Given the description of an element on the screen output the (x, y) to click on. 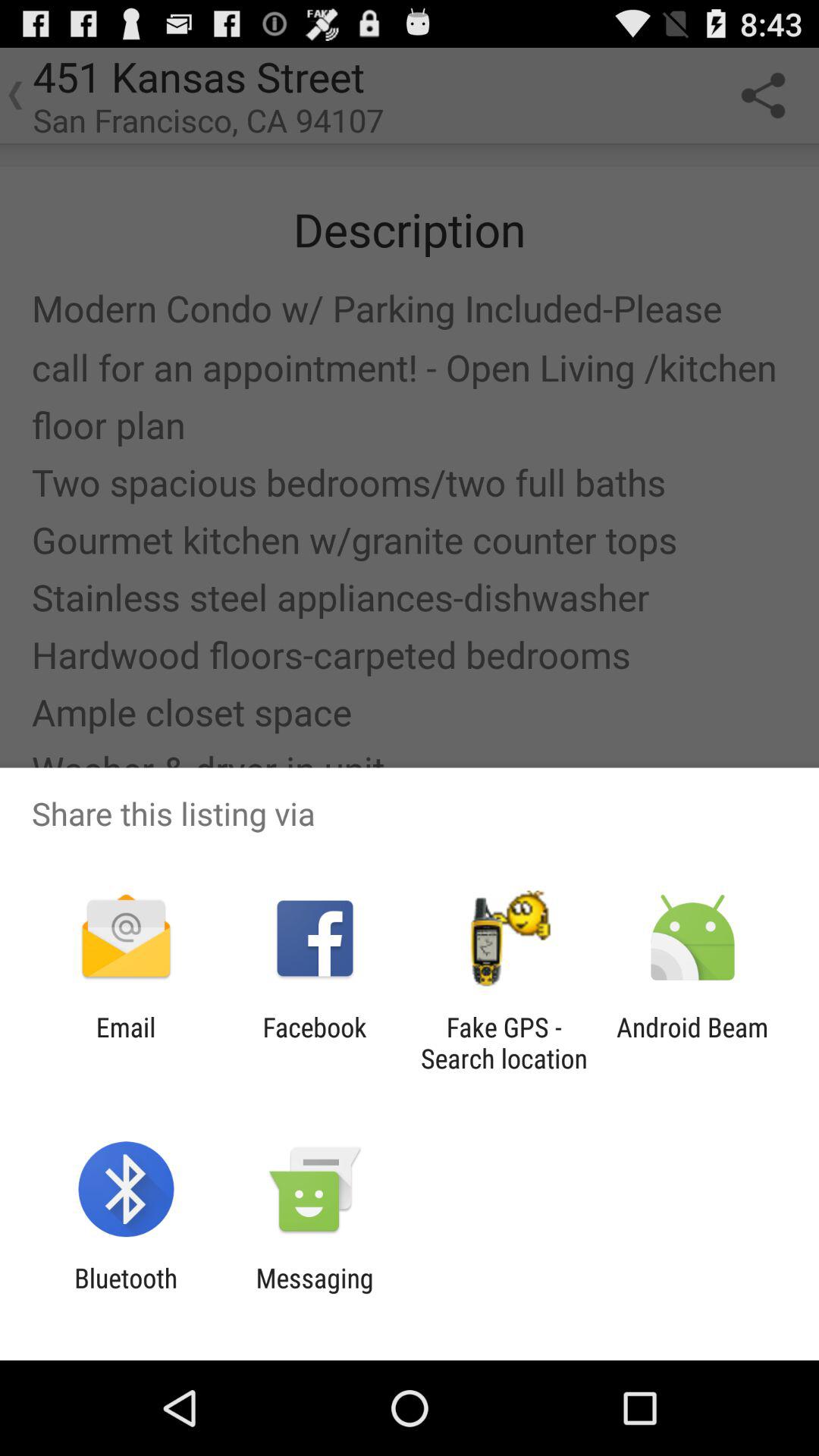
flip until the bluetooth icon (125, 1293)
